Given the description of an element on the screen output the (x, y) to click on. 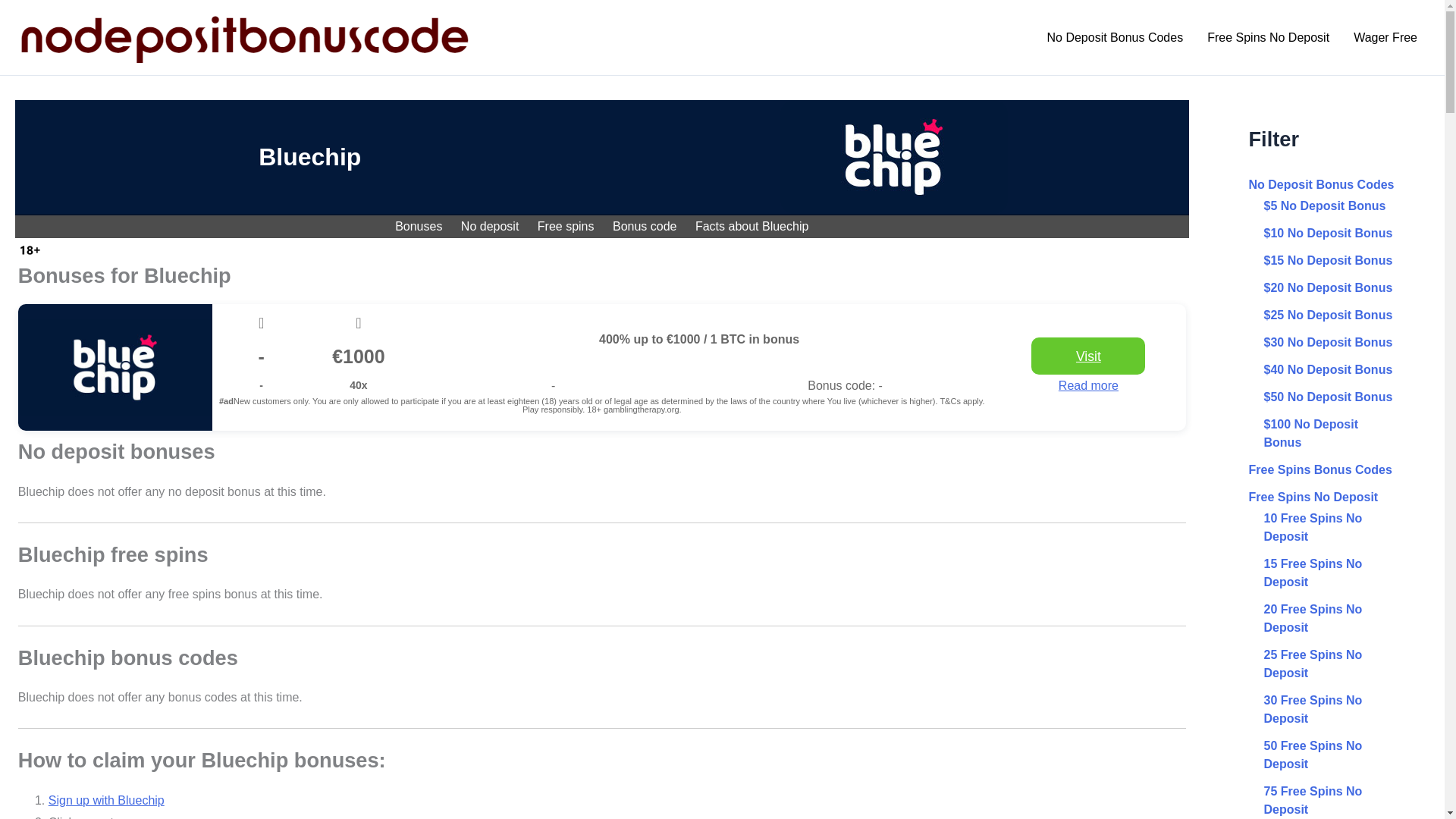
Free Spins No Deposit (1267, 37)
Wager Free (1384, 37)
No Deposit Bonus Codes (1114, 37)
